Given the description of an element on the screen output the (x, y) to click on. 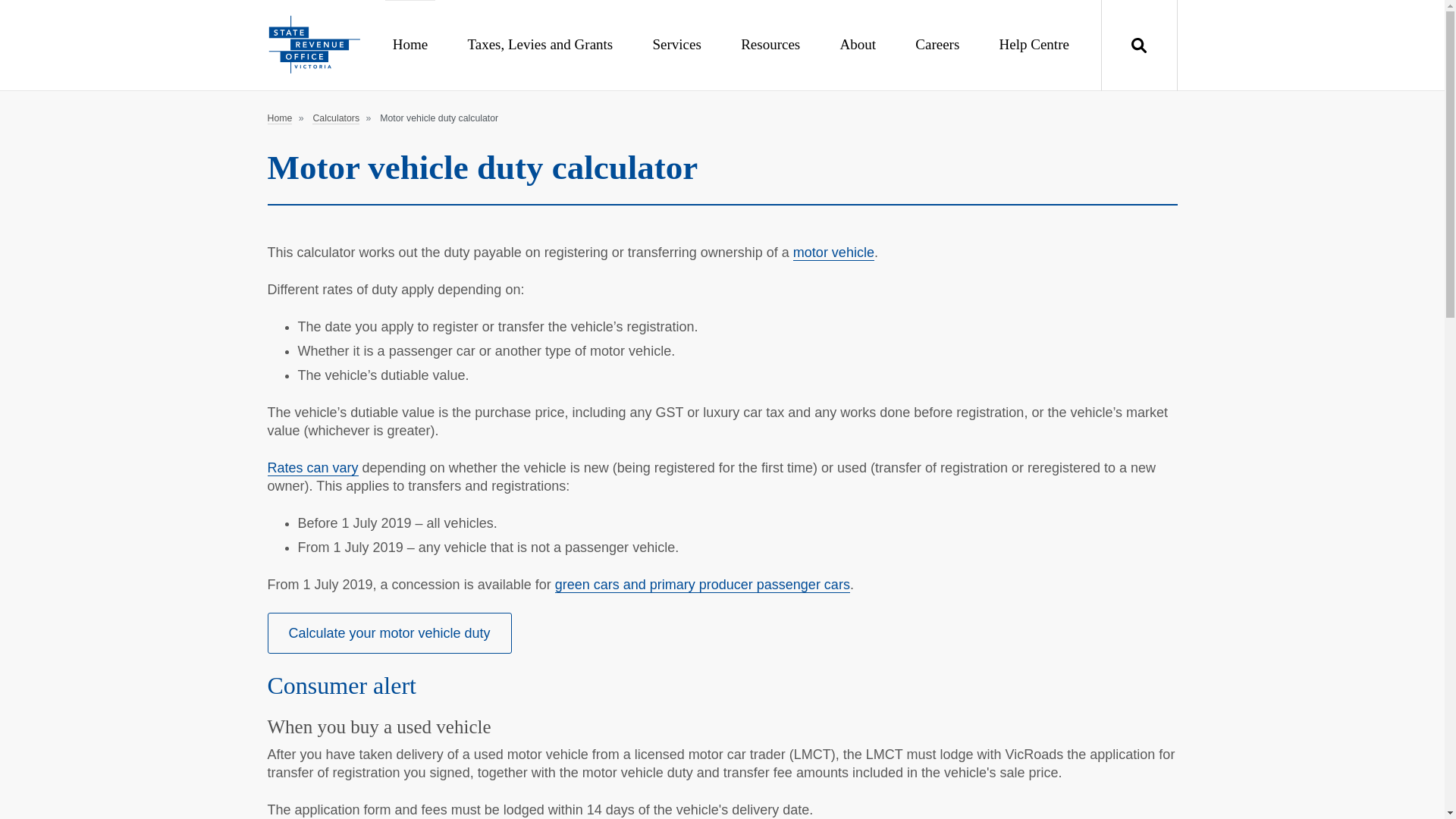
Go to SRO Home (312, 45)
Taxes, Levies and Grants (540, 44)
